Given the description of an element on the screen output the (x, y) to click on. 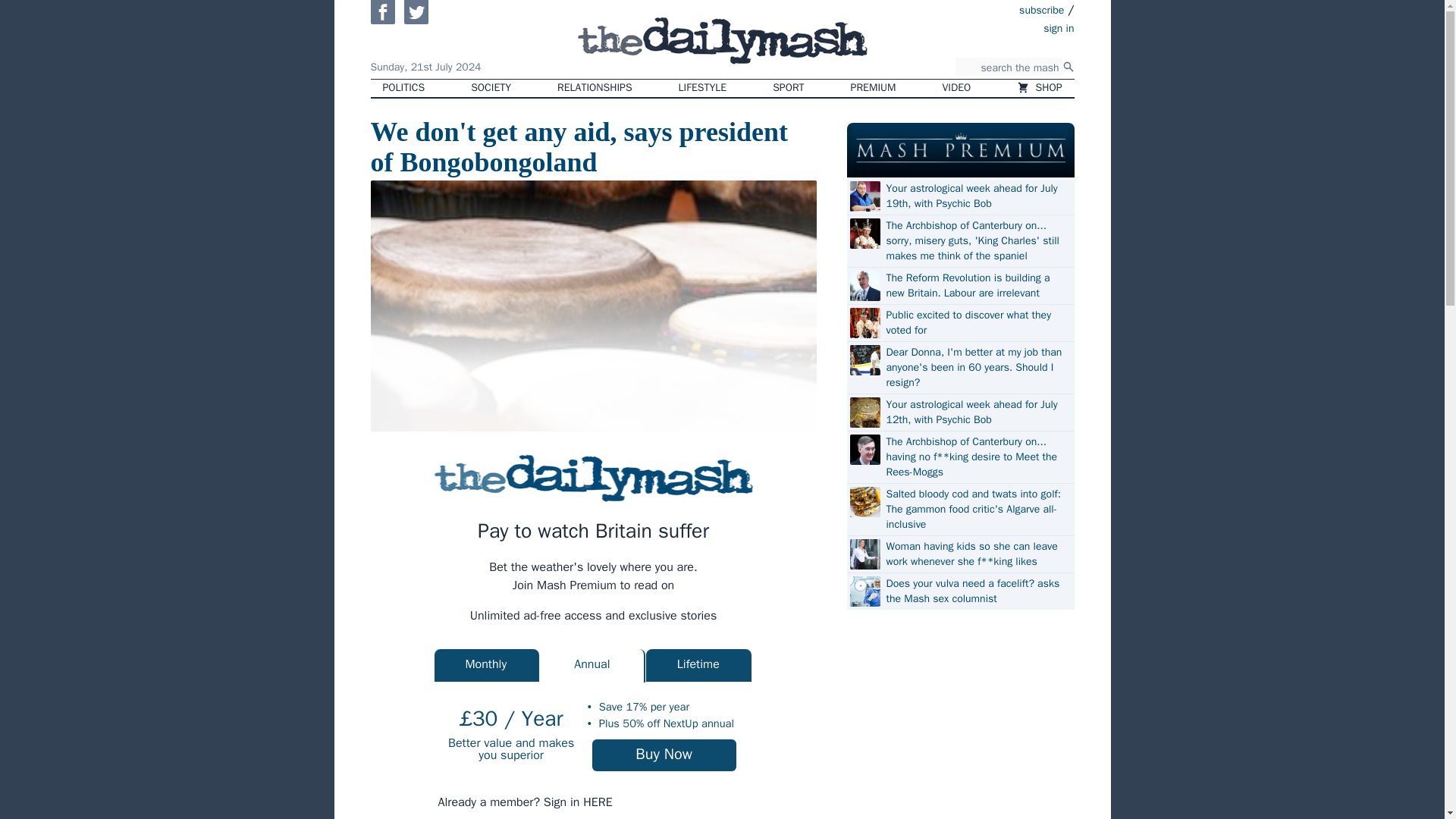
LIFESTYLE (702, 88)
PREMIUM (873, 88)
Your astrological week ahead for July 19th, with Psychic Bob (977, 195)
VIDEO (957, 88)
SOCIETY (490, 88)
Public excited to discover what they voted for (977, 322)
RELATIONSHIPS (593, 88)
subscribe (1041, 9)
SPORT (787, 88)
Buy Now (664, 755)
sign in (970, 27)
POLITICS (402, 88)
